Given the description of an element on the screen output the (x, y) to click on. 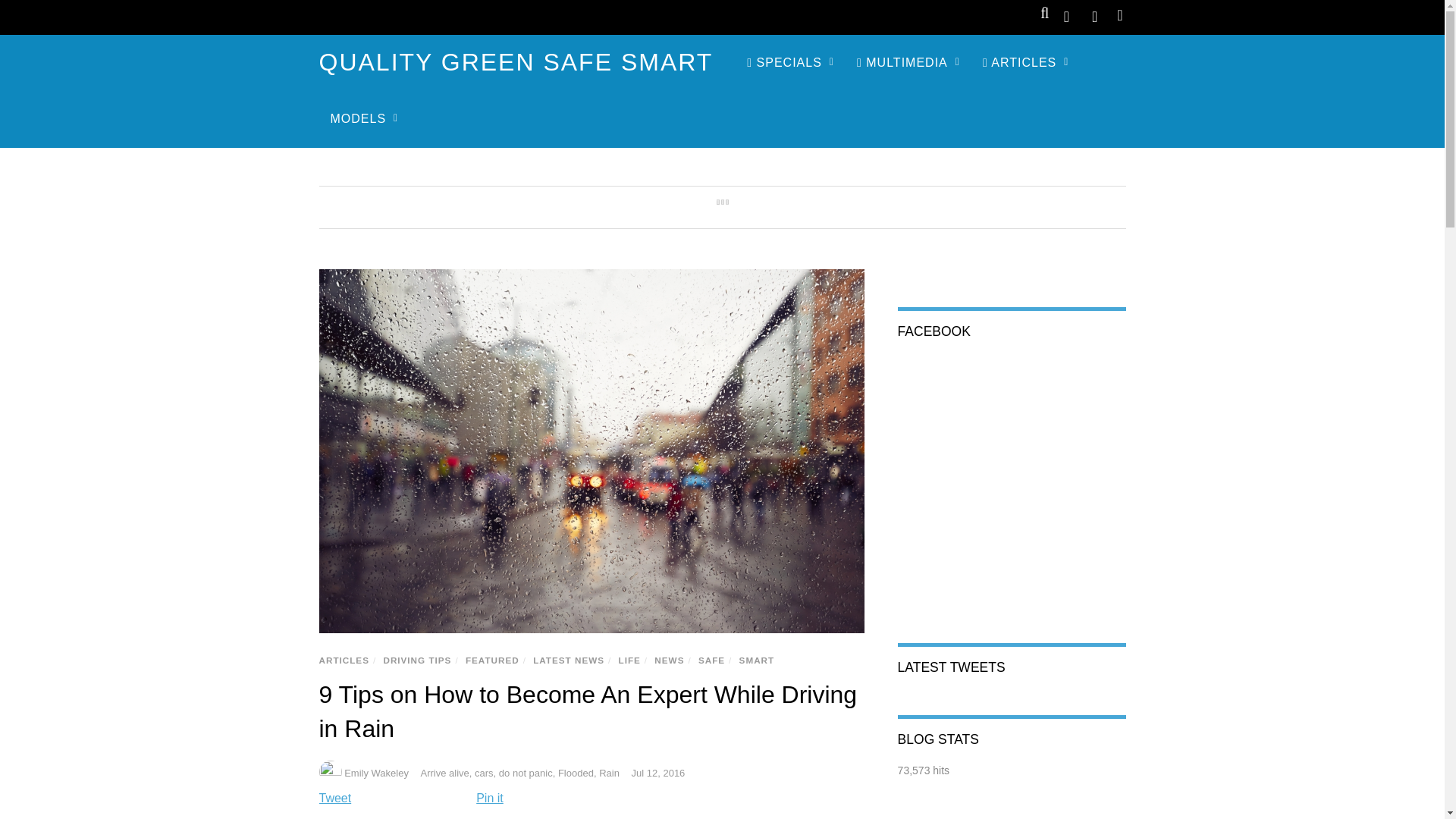
QUALITY GREEN SAFE SMART (515, 62)
MODELS (363, 118)
MULTIMEDIA (908, 62)
ARTICLES (1025, 62)
Twitter (1066, 14)
9 Tips on How to Become An Expert While Driving in Rain (587, 711)
SPECIALS (790, 62)
QUALITY GREEN SAFE SMART (515, 62)
Facebook (1094, 14)
